Given the description of an element on the screen output the (x, y) to click on. 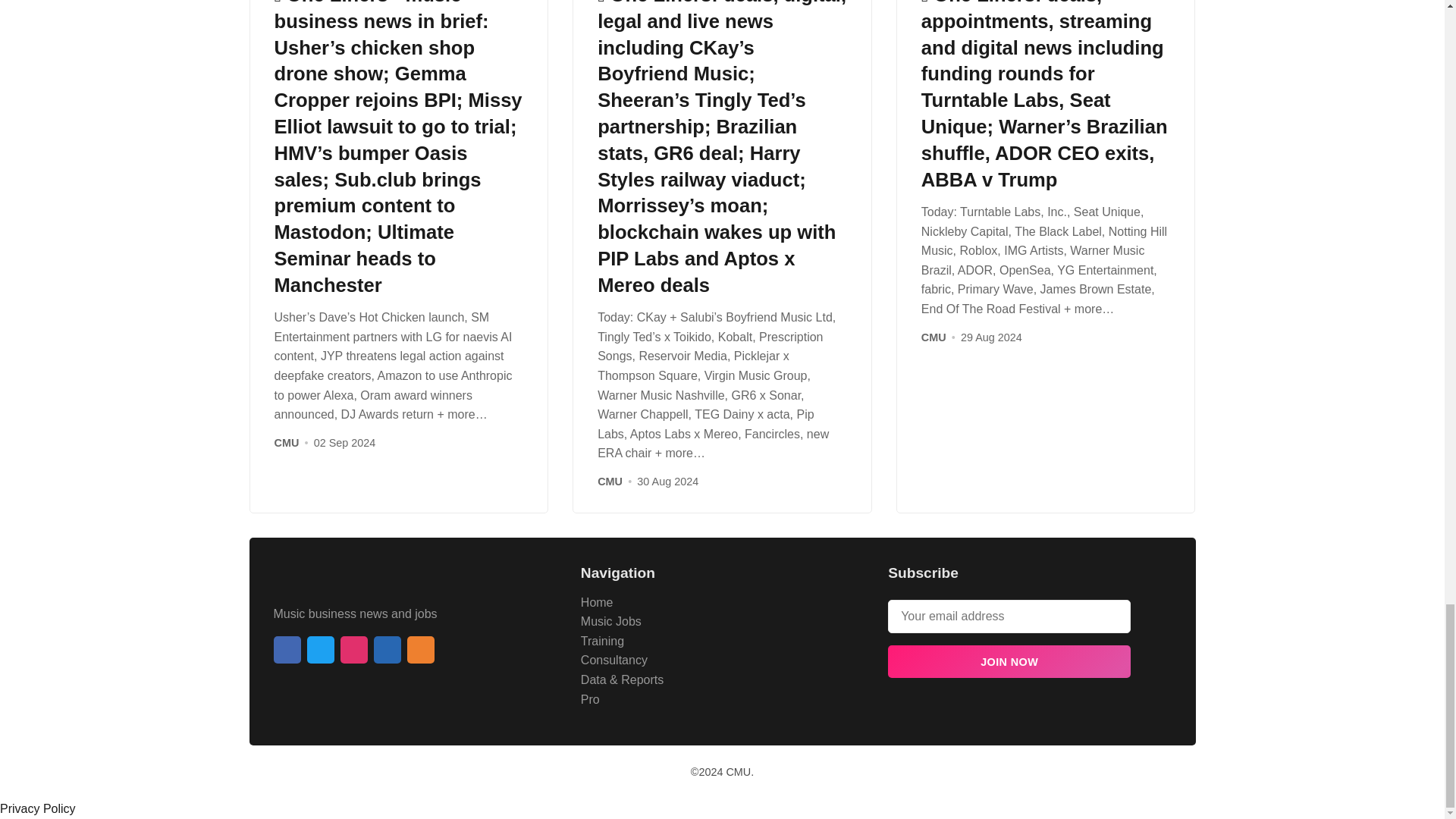
Linkedin (386, 648)
RSS (419, 648)
Instagram (352, 648)
Facebook (286, 648)
Twitter (319, 648)
